Given the description of an element on the screen output the (x, y) to click on. 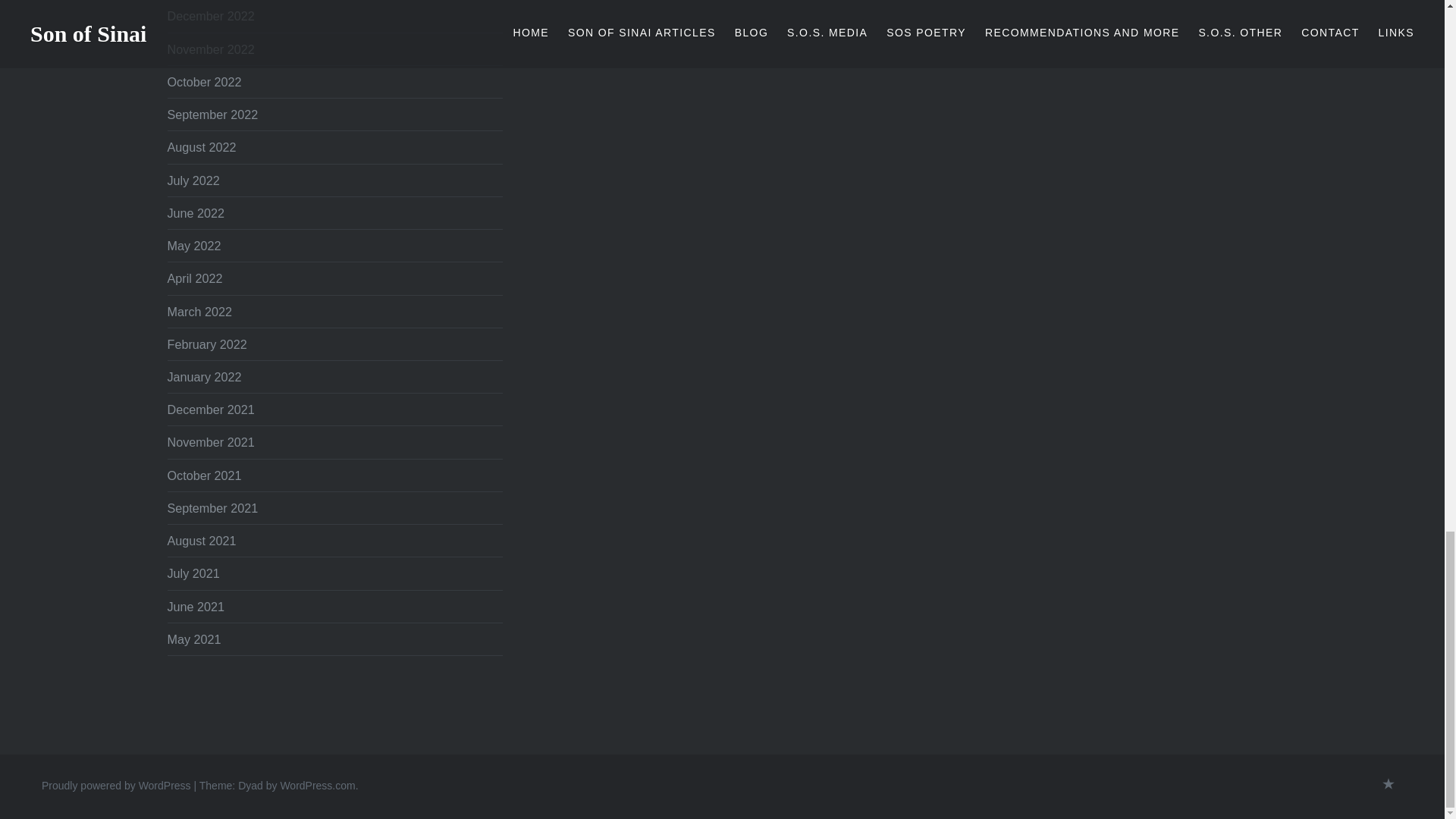
October 2022 (204, 81)
November 2022 (210, 49)
September 2022 (212, 114)
February 2022 (206, 344)
July 2022 (193, 180)
March 2022 (199, 311)
June 2022 (195, 213)
August 2022 (201, 146)
May 2022 (194, 245)
April 2022 (194, 278)
